Given the description of an element on the screen output the (x, y) to click on. 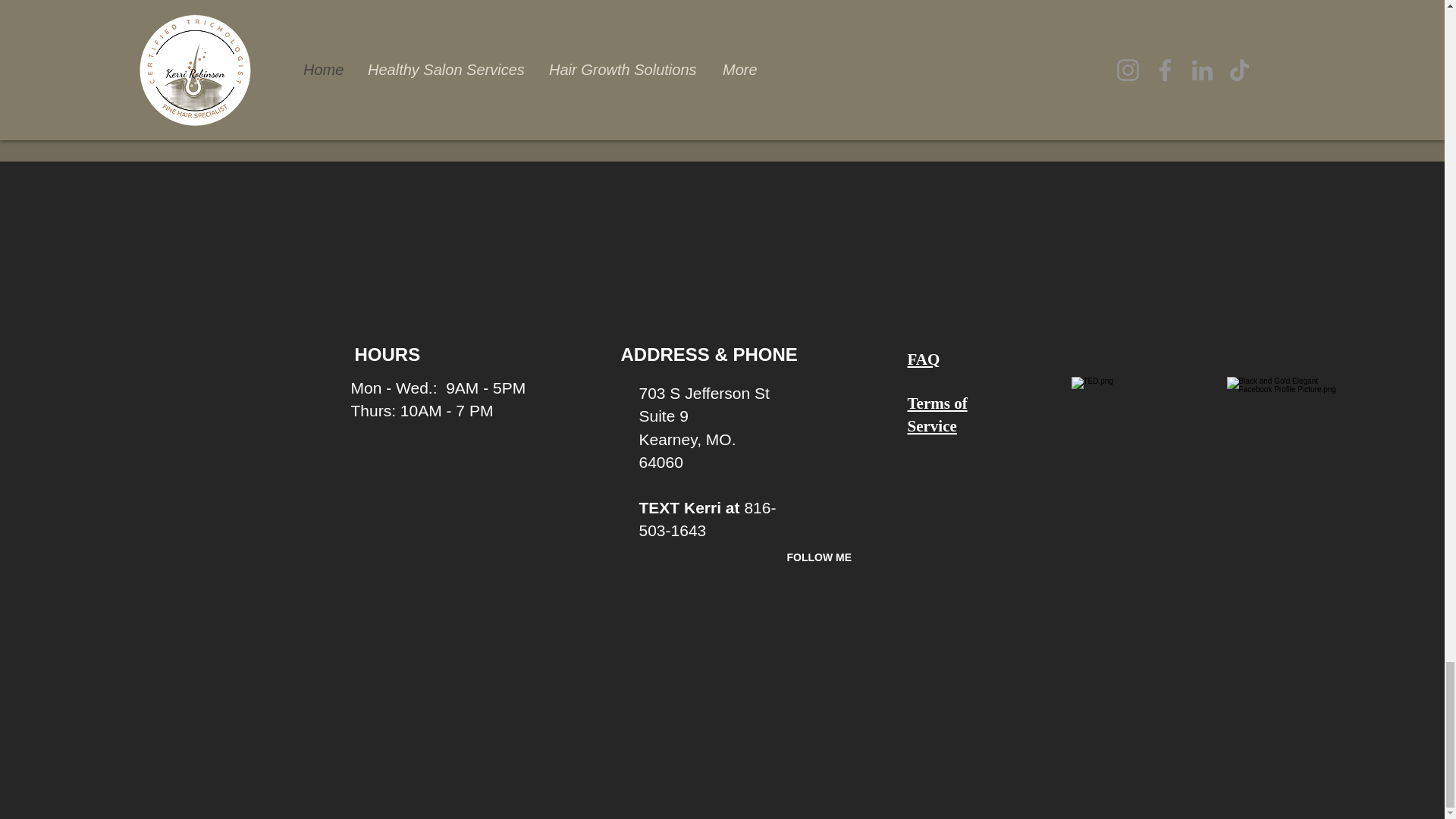
FAQ (923, 358)
Terms of Service (936, 413)
